Given the description of an element on the screen output the (x, y) to click on. 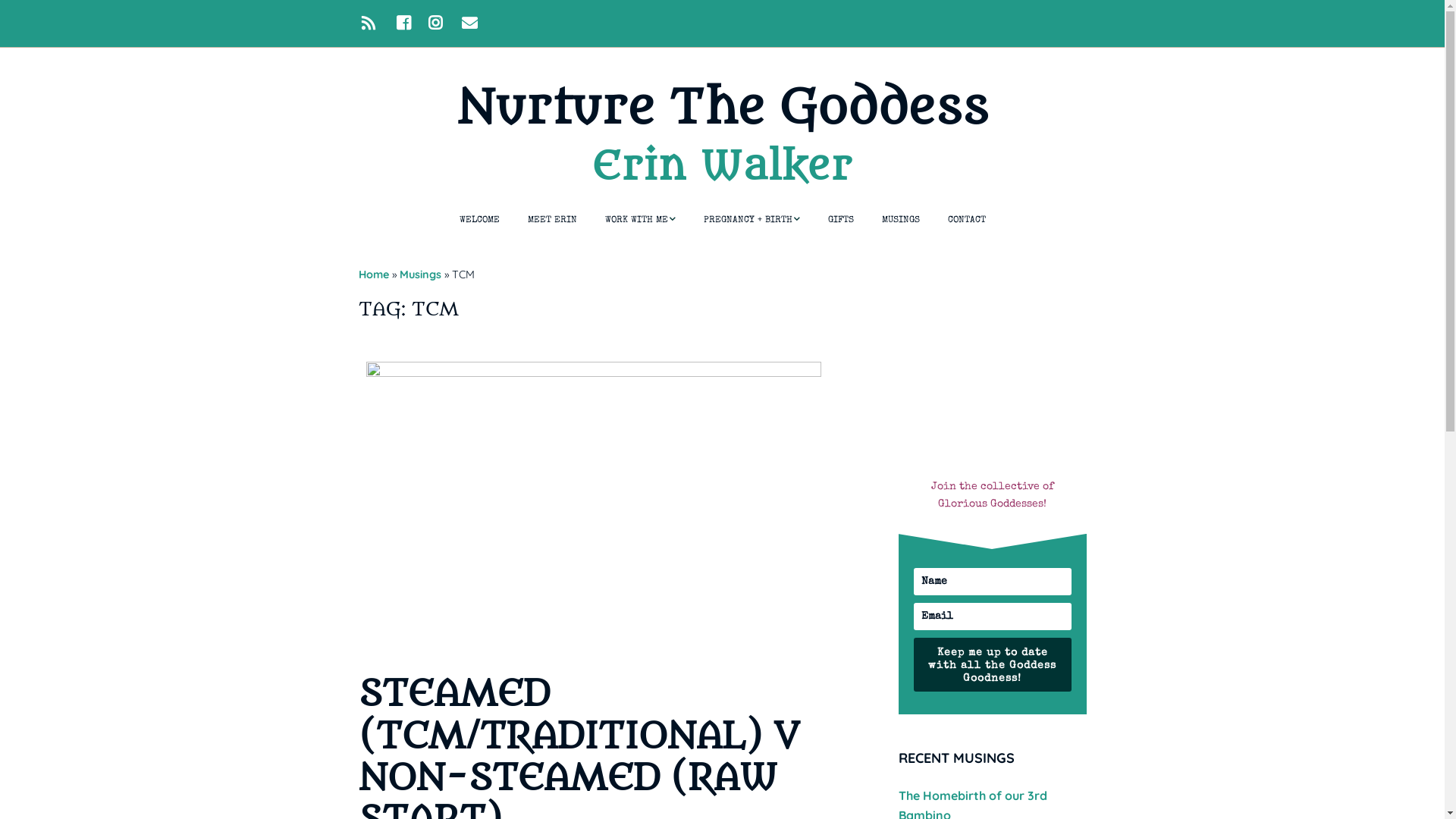
WORK WITH ME Element type: text (640, 220)
MEET ERIN Element type: text (552, 220)
PREGNANCY + BIRTH Element type: text (751, 220)
CONTACT Element type: text (966, 220)
Nurture The Goddess Element type: text (721, 107)
Musings Element type: text (419, 274)
Keep me up to date with all the Goddess Goodness! Element type: text (991, 664)
GIFTS Element type: text (840, 220)
Home Element type: text (372, 274)
WELCOME Element type: text (479, 220)
MUSINGS Element type: text (900, 220)
